Given the description of an element on the screen output the (x, y) to click on. 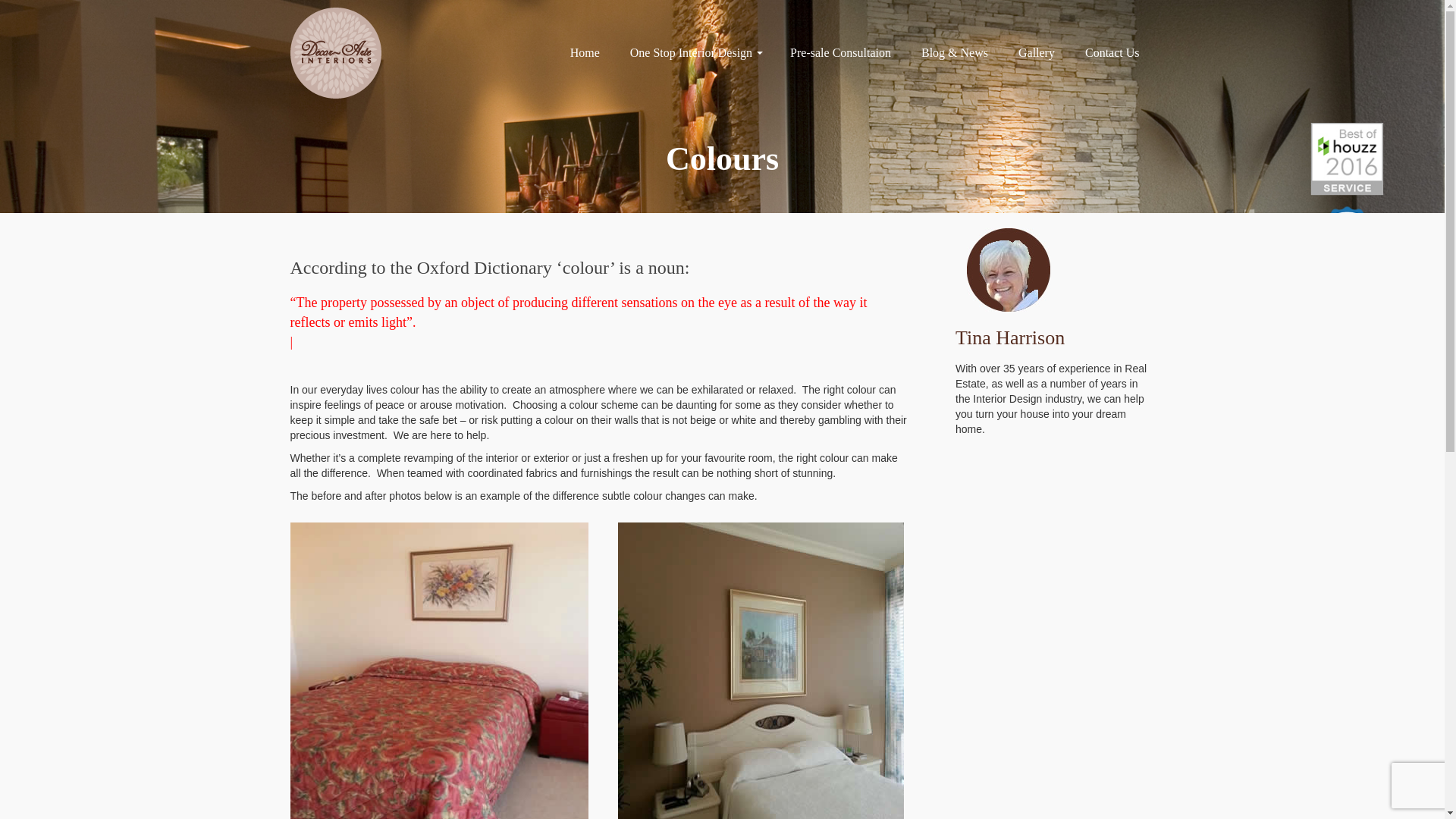
Home Element type: text (585, 53)
One Stop Interior Design Element type: text (695, 53)
Gallery Element type: text (1036, 53)
Pre-sale Consultaion Element type: text (840, 53)
Blog & News Element type: text (954, 53)
Contact Us Element type: text (1112, 53)
